Given the description of an element on the screen output the (x, y) to click on. 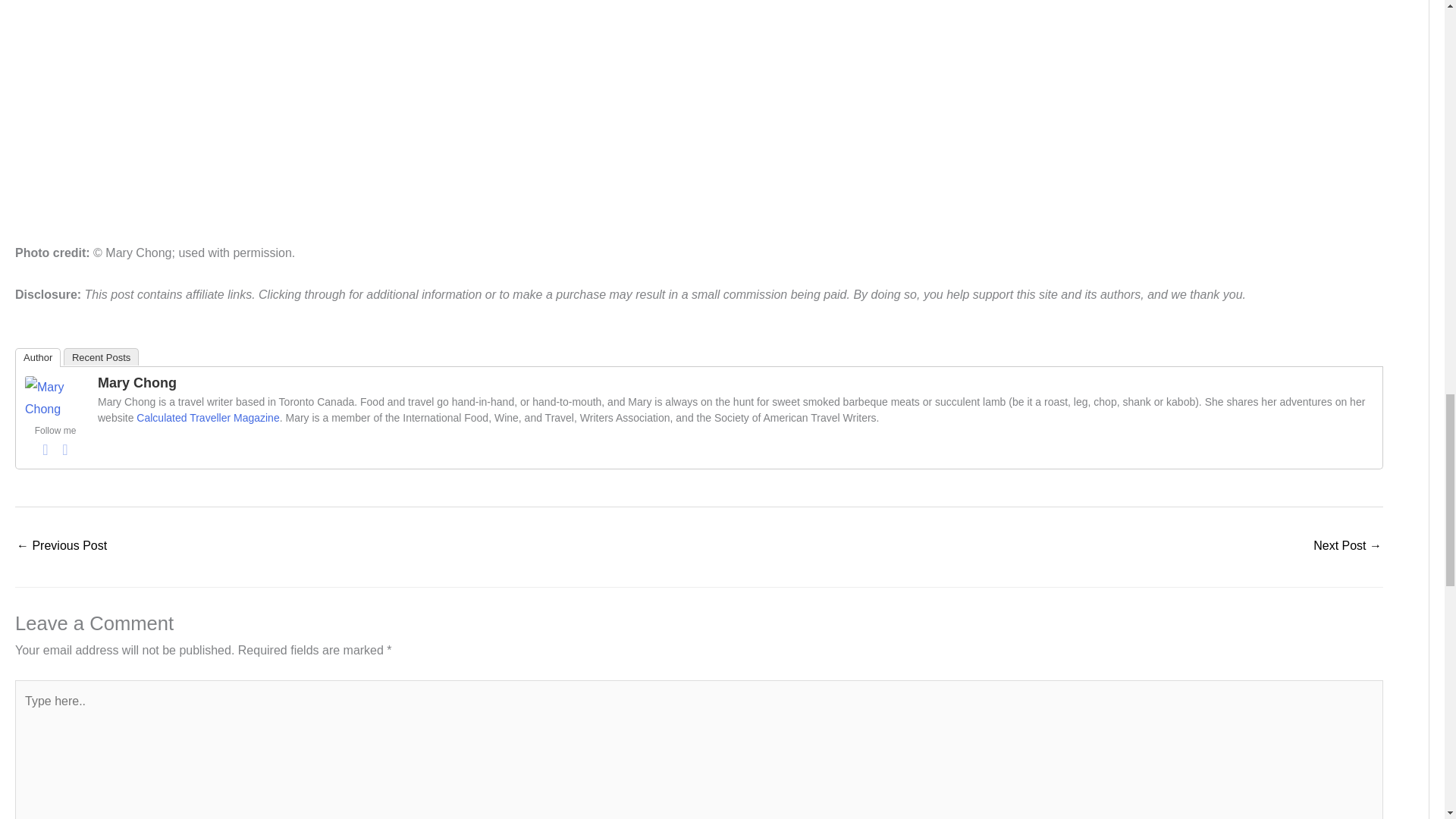
Mario's Catalina, Fort Lauderdale (1347, 547)
Calculated Traveller Magazine (207, 417)
Author (37, 357)
Twitter (65, 449)
Ivar's Acres of Clams, Seattle (61, 547)
Facebook (45, 449)
Mary Chong (136, 382)
Recent Posts (101, 356)
Mary Chong (54, 397)
